Given the description of an element on the screen output the (x, y) to click on. 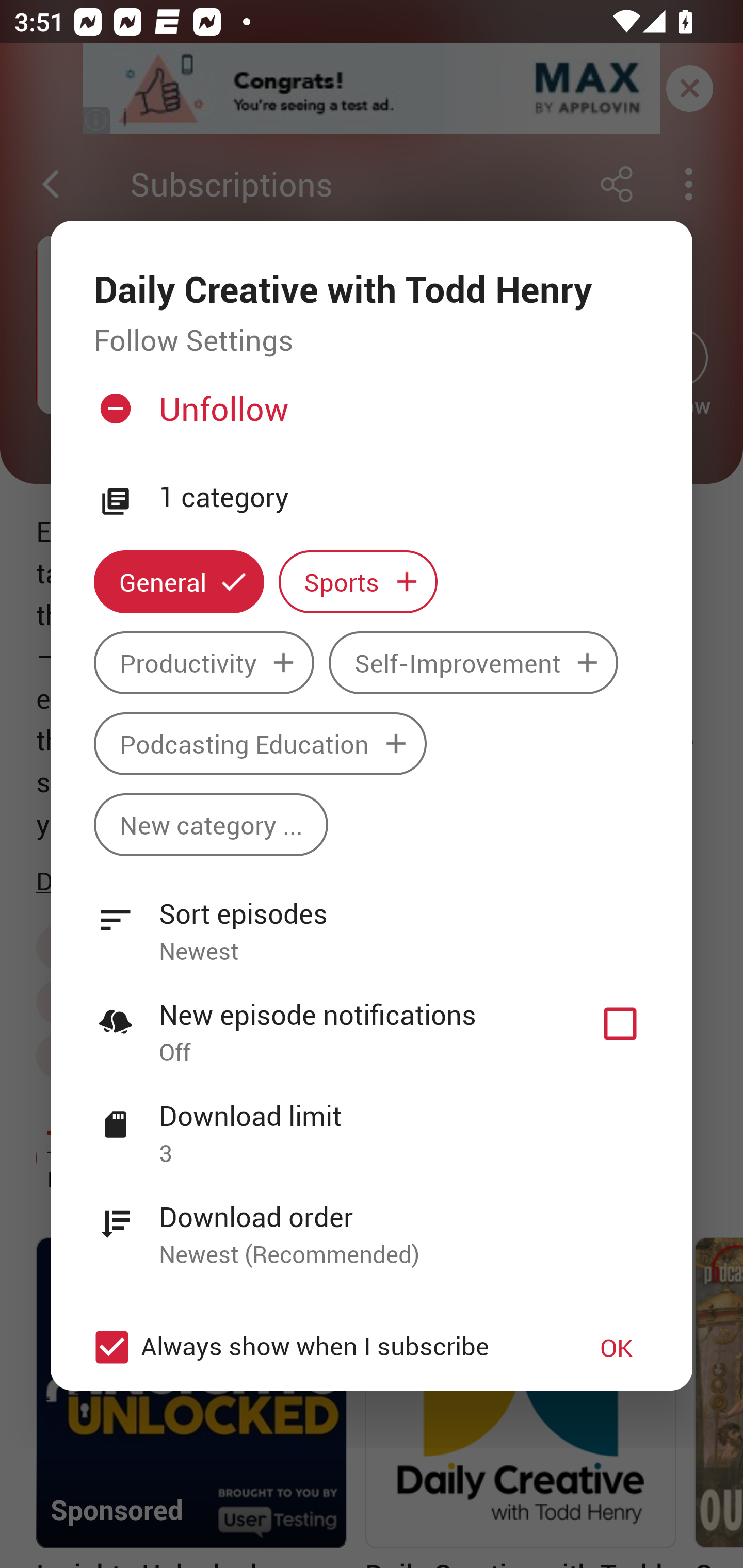
Unfollow (369, 417)
1 category (404, 497)
General (178, 581)
Sports (357, 581)
Productivity (203, 662)
Self-Improvement (473, 662)
Podcasting Education (259, 742)
New category ... (210, 824)
Sort episodes Newest (371, 921)
New episode notifications (620, 1023)
Download limit 3 (371, 1123)
Download order Newest (Recommended) (371, 1224)
OK (616, 1347)
Always show when I subscribe (320, 1347)
